Given the description of an element on the screen output the (x, y) to click on. 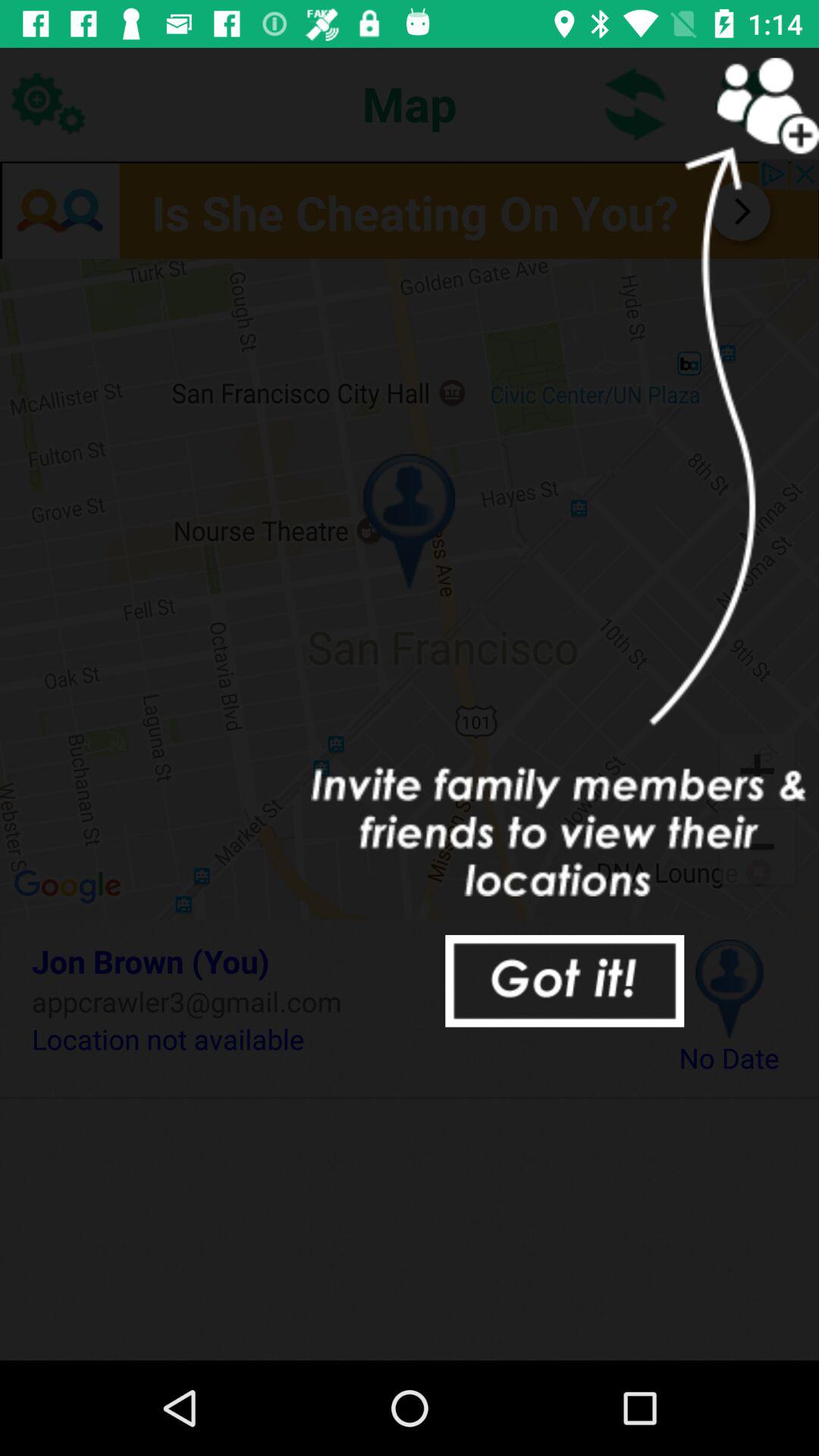
turn on the item below appcrawler3@gmail.com item (332, 1038)
